Given the description of an element on the screen output the (x, y) to click on. 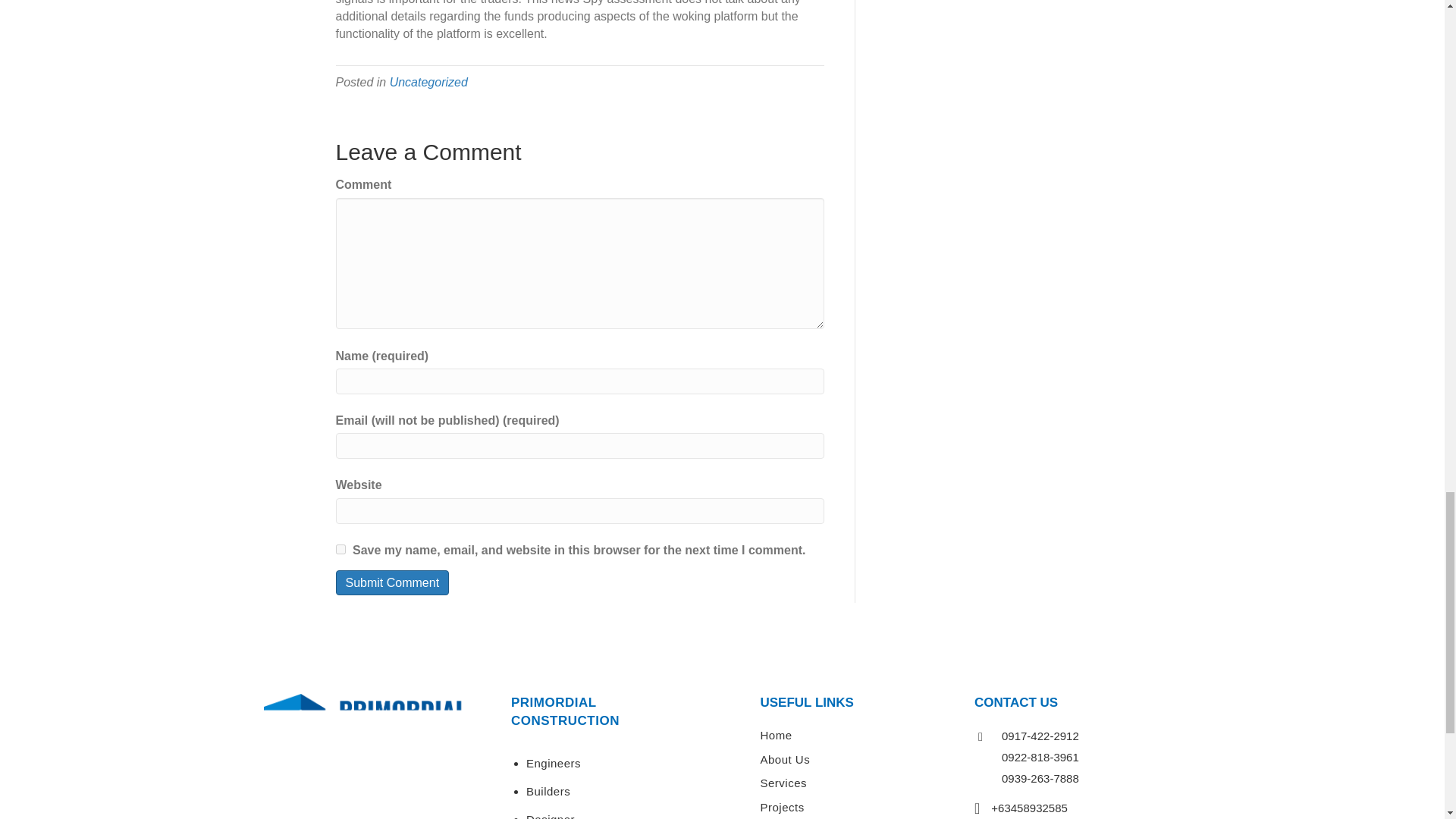
Submit Comment (391, 582)
primordial-logo (364, 722)
yes (339, 549)
Services (783, 782)
Home (776, 735)
About Us (784, 758)
Projects (781, 807)
Submit Comment (391, 582)
Uncategorized (428, 82)
